Given the description of an element on the screen output the (x, y) to click on. 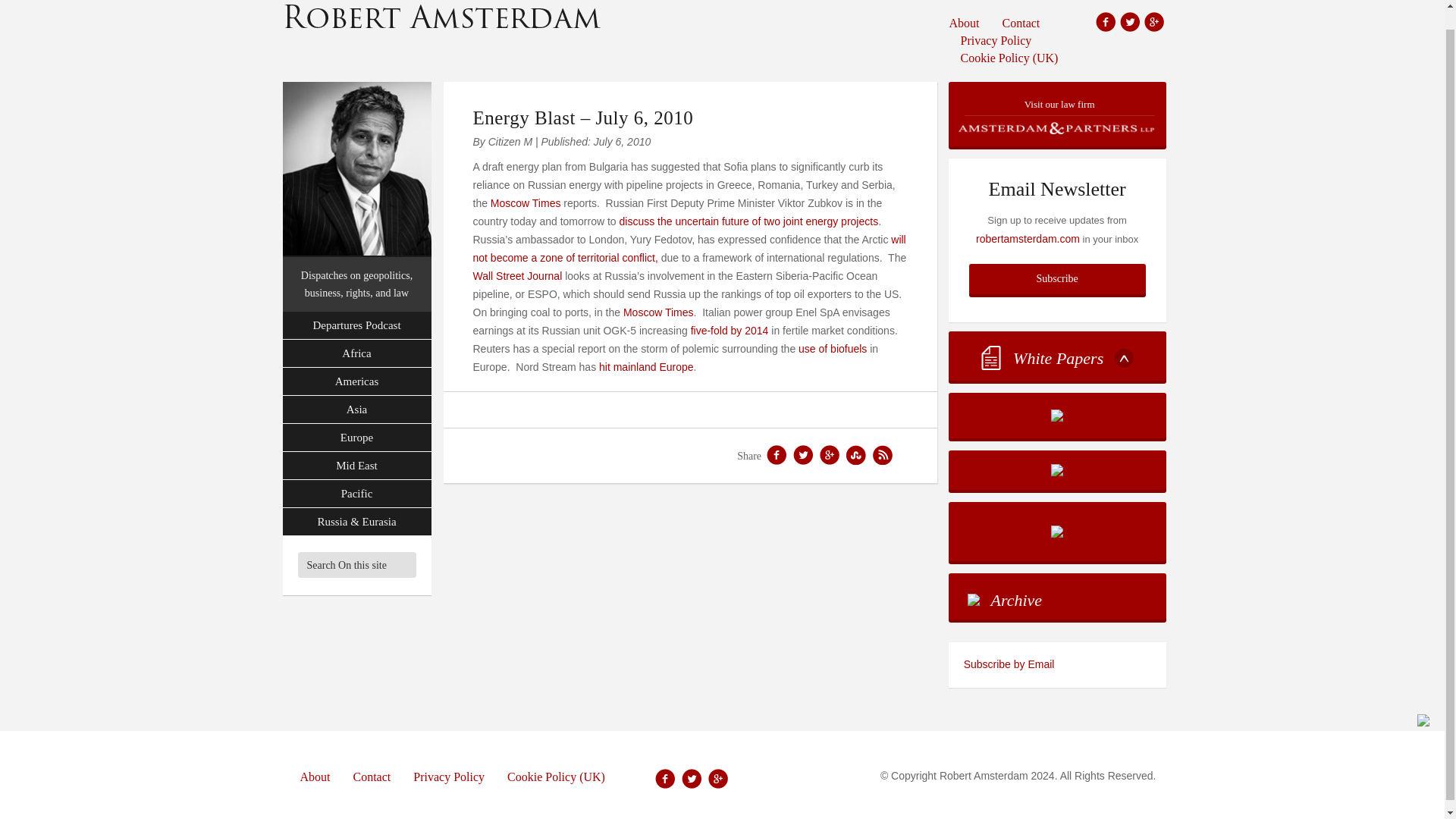
Subscribe to the Robert Amsterdam feed by email (1057, 664)
Americas (356, 381)
discuss the (646, 221)
Asia (356, 409)
hit mainland Europe (646, 367)
Africa (356, 353)
will not become a zone of territorial conflict, (689, 248)
Departures Podcast (356, 325)
Pacific (356, 493)
future of two joint energy projects (798, 221)
Moscow Times (658, 312)
About (970, 23)
Privacy Policy (996, 40)
robertamsterdam.com (1027, 238)
Contact (1021, 23)
